Given the description of an element on the screen output the (x, y) to click on. 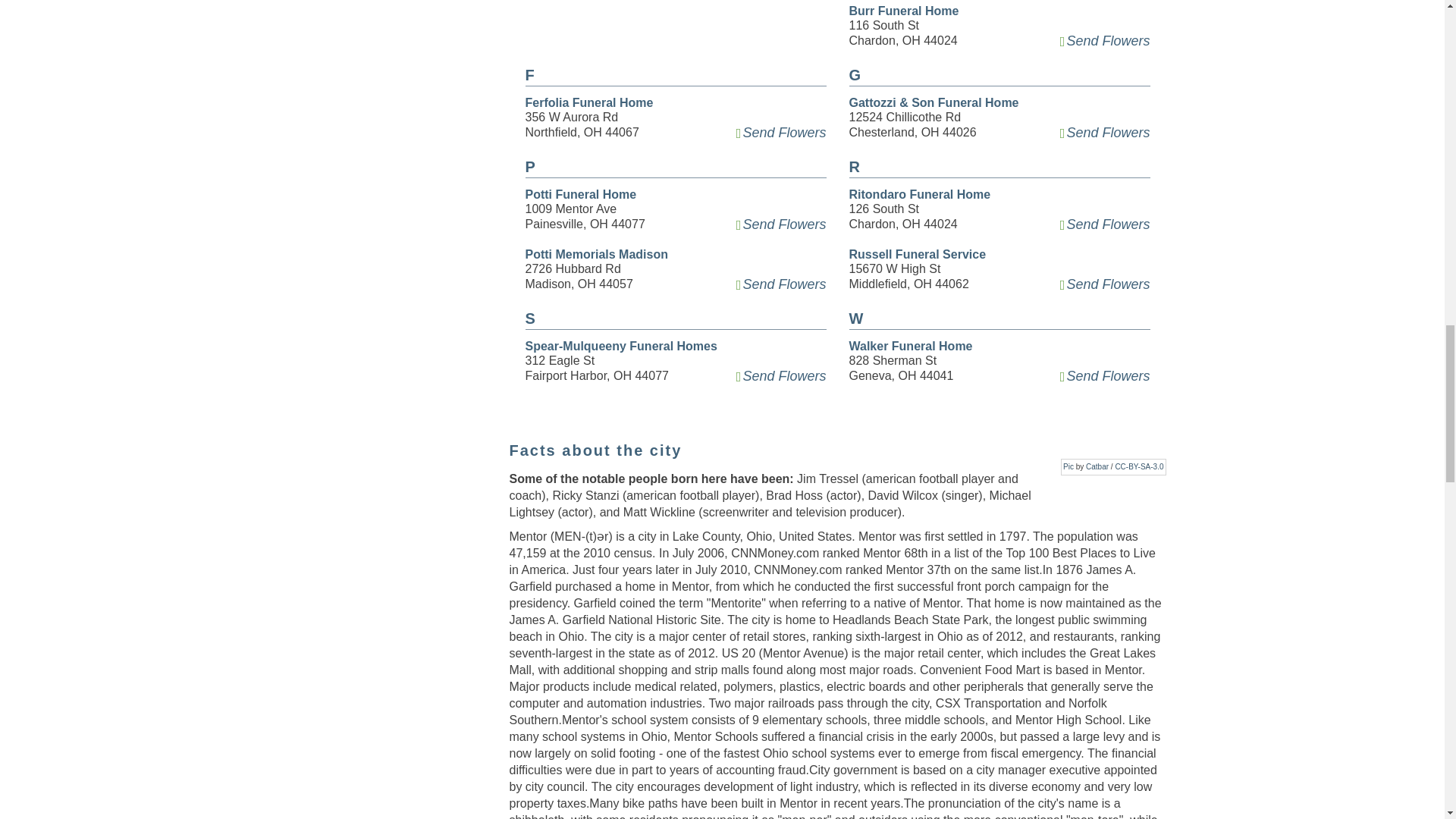
Catbar (1097, 466)
